Given the description of an element on the screen output the (x, y) to click on. 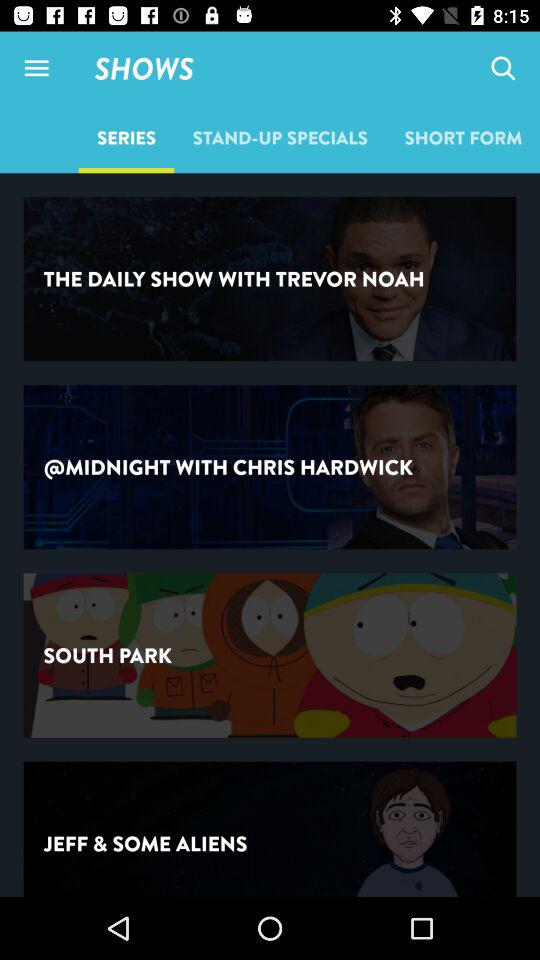
turn on icon next to the stand-up specials (502, 67)
